Given the description of an element on the screen output the (x, y) to click on. 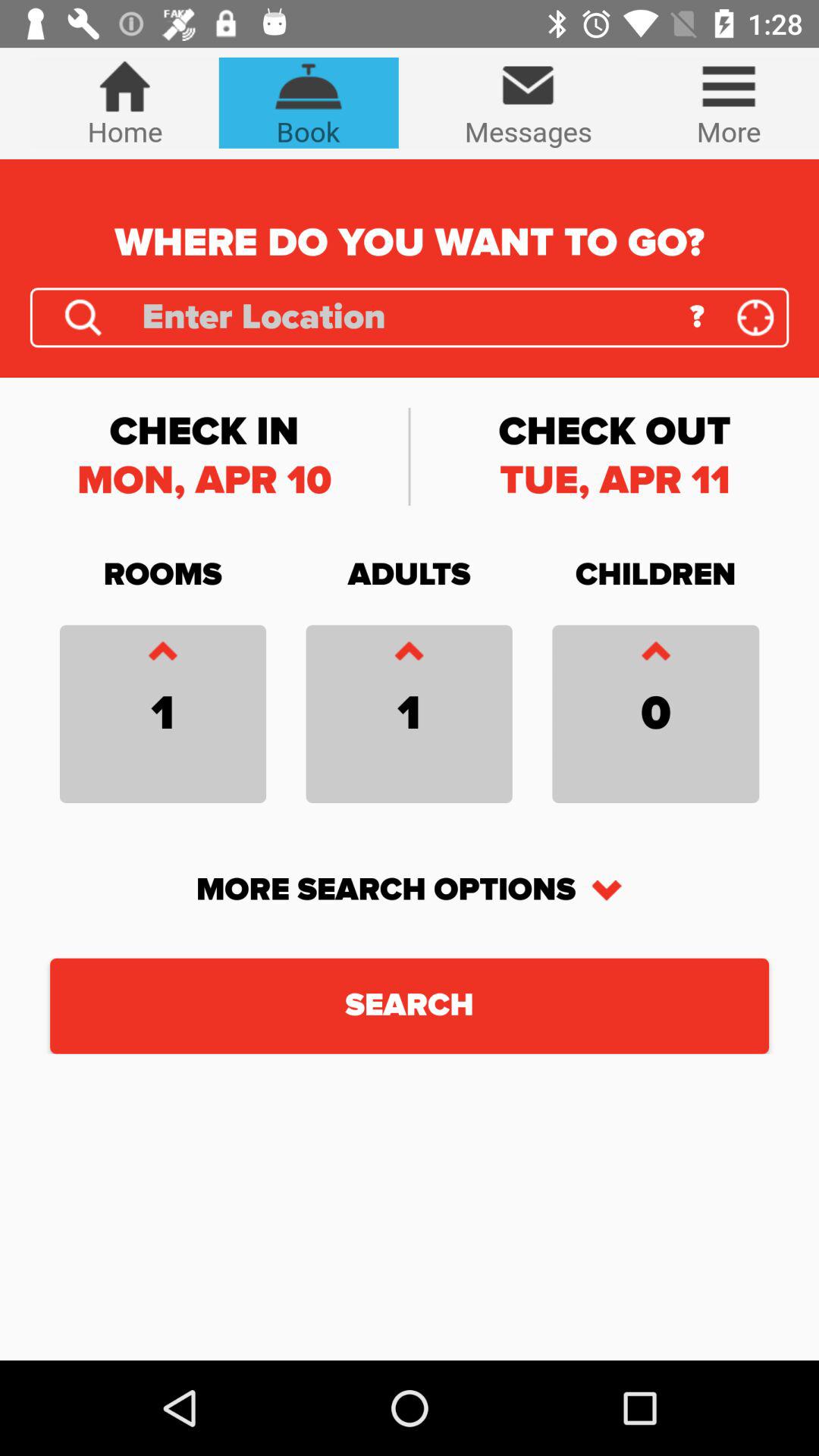
choose the icon to the right of the  ?  item (755, 317)
